Given the description of an element on the screen output the (x, y) to click on. 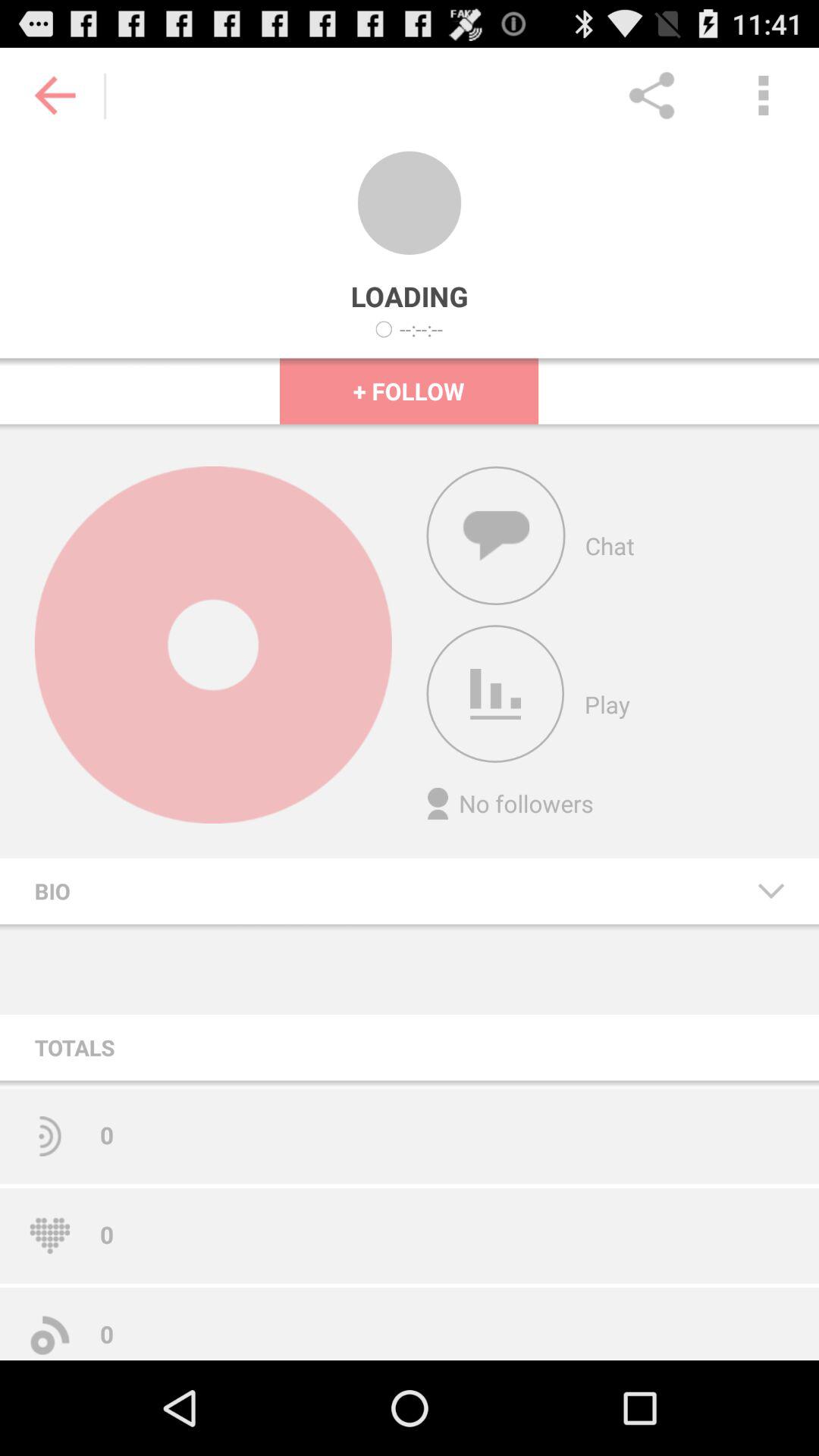
chat or comment (495, 535)
